Given the description of an element on the screen output the (x, y) to click on. 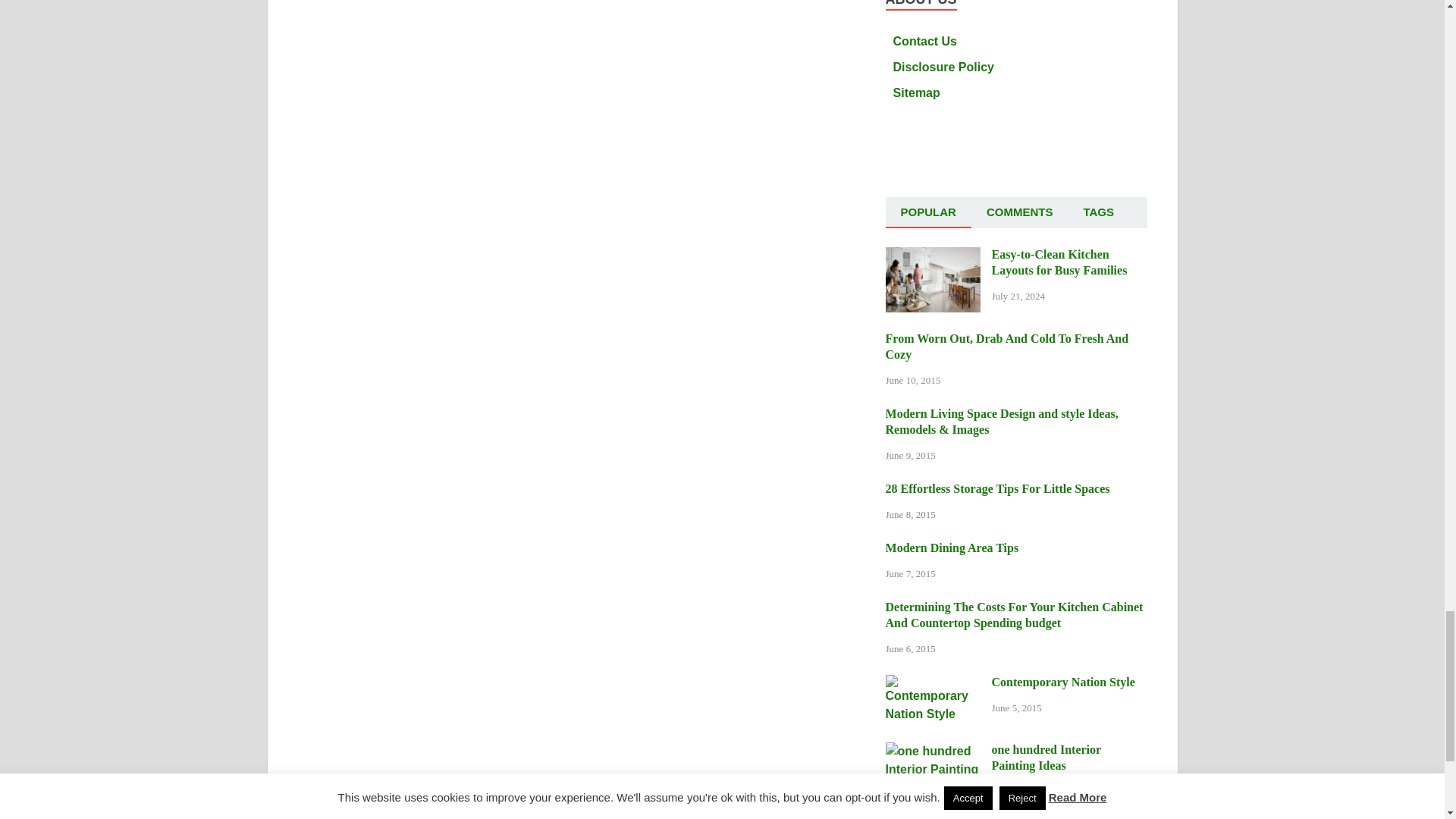
Contemporary Nation Style (932, 683)
Easy-to-Clean Kitchen Layouts for Busy Families (932, 255)
one hundred Interior Painting Ideas (932, 750)
